Given the description of an element on the screen output the (x, y) to click on. 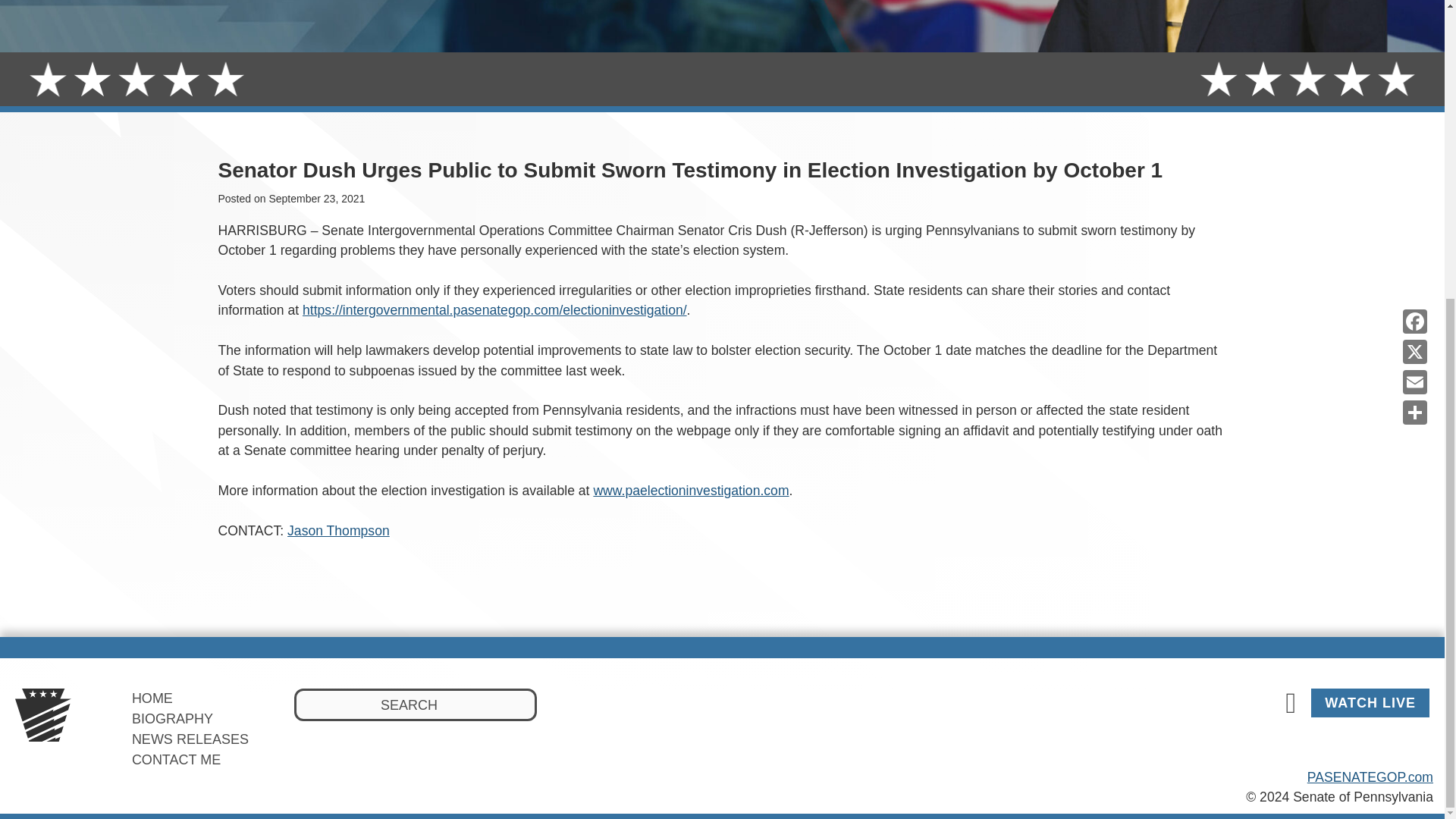
BIOGRAPHY (172, 718)
www.paelectioninvestigation.com (690, 490)
NEWS RELEASES (190, 739)
Search for: (415, 704)
HOME (152, 698)
CONTACT ME (176, 759)
Jason Thompson (338, 530)
